Given the description of an element on the screen output the (x, y) to click on. 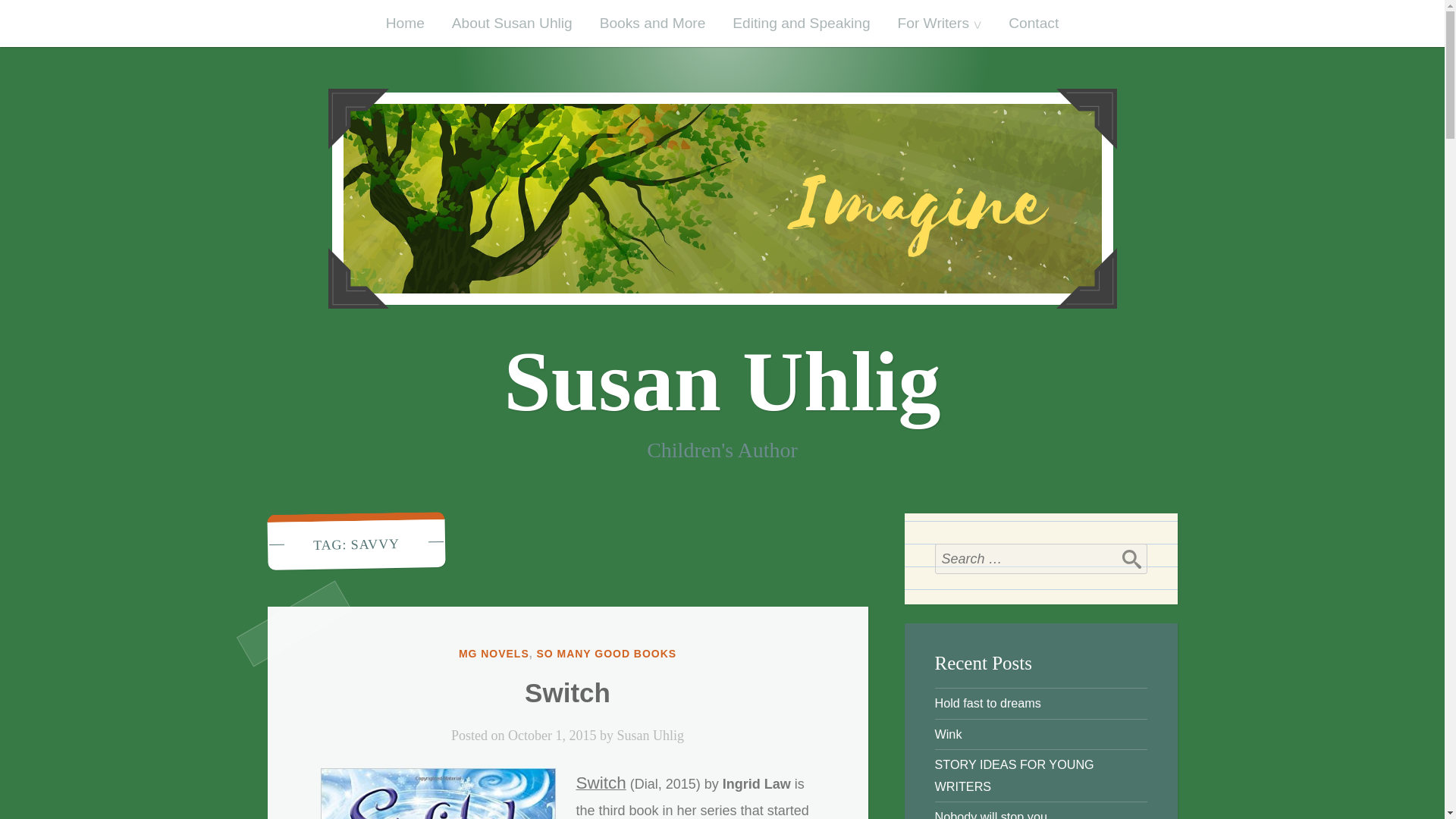
For Writers (939, 23)
Home (405, 23)
About Susan Uhlig (512, 23)
Susan Uhlig (721, 381)
Search (1131, 558)
Editing and Speaking (801, 23)
Susan Uhlig (649, 735)
Contact (1032, 23)
Search (1131, 558)
October 1, 2015 (551, 735)
